Given the description of an element on the screen output the (x, y) to click on. 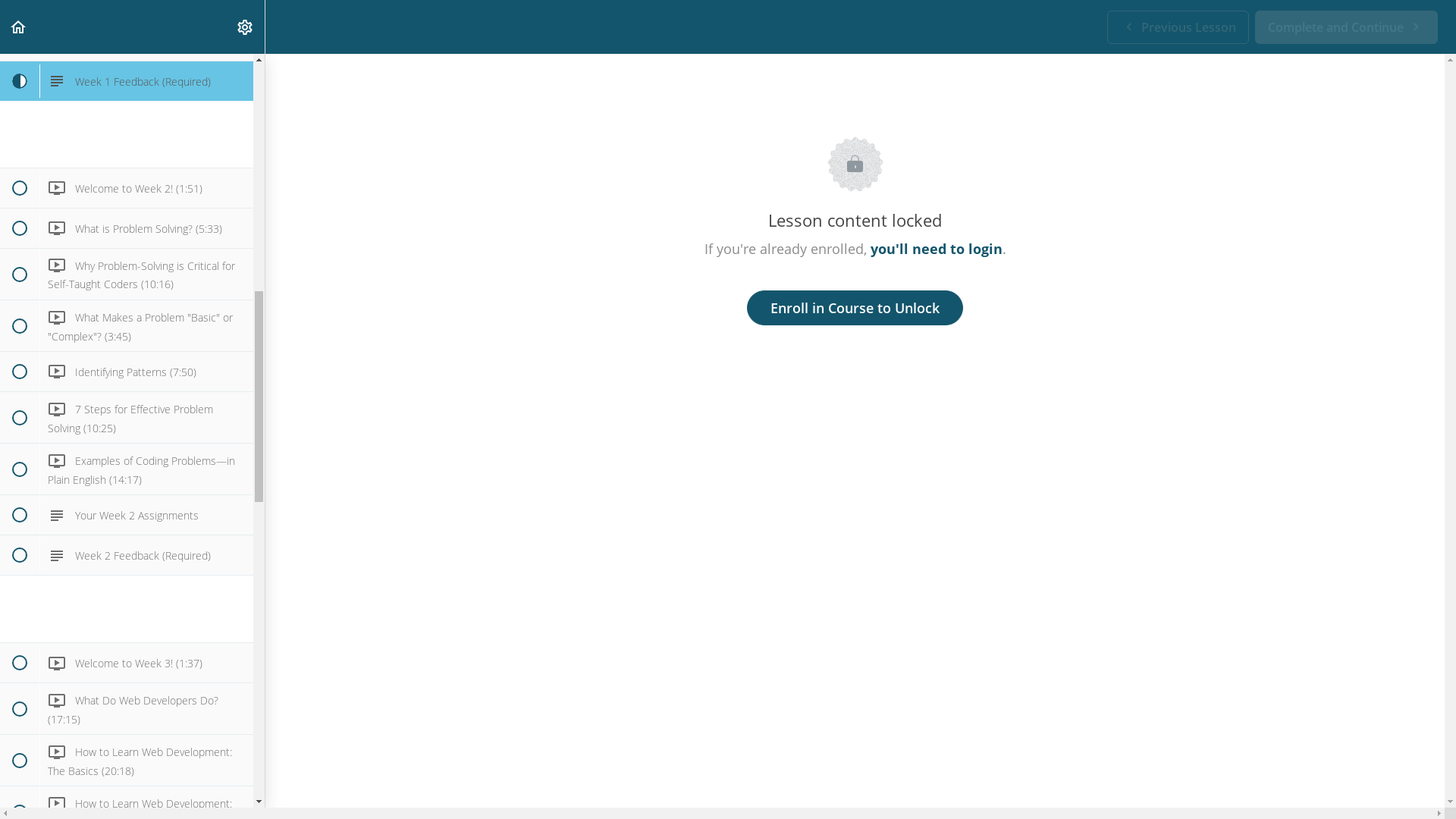
Settings Menu Element type: hover (244, 27)
  Week 1 Feedback (Required) Element type: text (126, 80)
Complete and Continue
  Element type: text (1346, 26)
  What Do Web Developers Do? (17:15) Element type: text (126, 708)
  7 Steps for Effective Problem Solving (10:25) Element type: text (126, 417)
Enroll in Course to Unlock Element type: text (854, 307)
  What is Problem Solving? (5:33) Element type: text (126, 227)
  Welcome to Week 2! (1:51) Element type: text (126, 187)
  Welcome to Week 3! (1:37) Element type: text (126, 662)
  Your Week 2 Assignments Element type: text (126, 514)
you'll need to login Element type: text (936, 248)
  How to Learn Web Development: The Basics (20:18) Element type: text (126, 759)
  Week 2 Feedback (Required) Element type: text (126, 554)
Back to course curriculum Element type: hover (18, 27)
  Previous Lesson Element type: text (1177, 26)
  What Makes a Problem "Basic" or "Complex"? (3:45) Element type: text (126, 325)
  Identifying Patterns (7:50) Element type: text (126, 371)
  Your Week 1 Assignments Element type: text (126, 40)
